Given the description of an element on the screen output the (x, y) to click on. 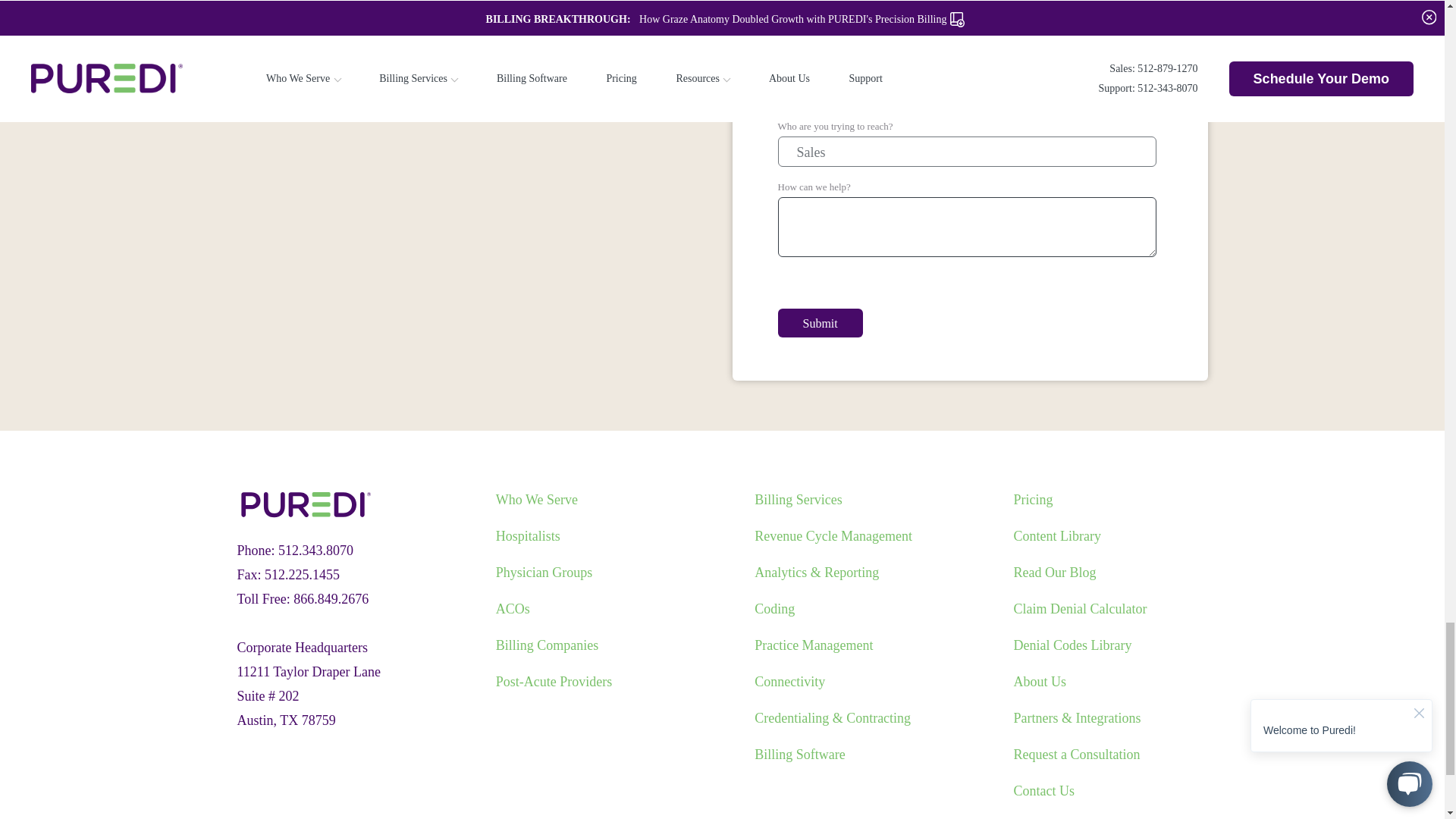
Submit (820, 322)
